Given the description of an element on the screen output the (x, y) to click on. 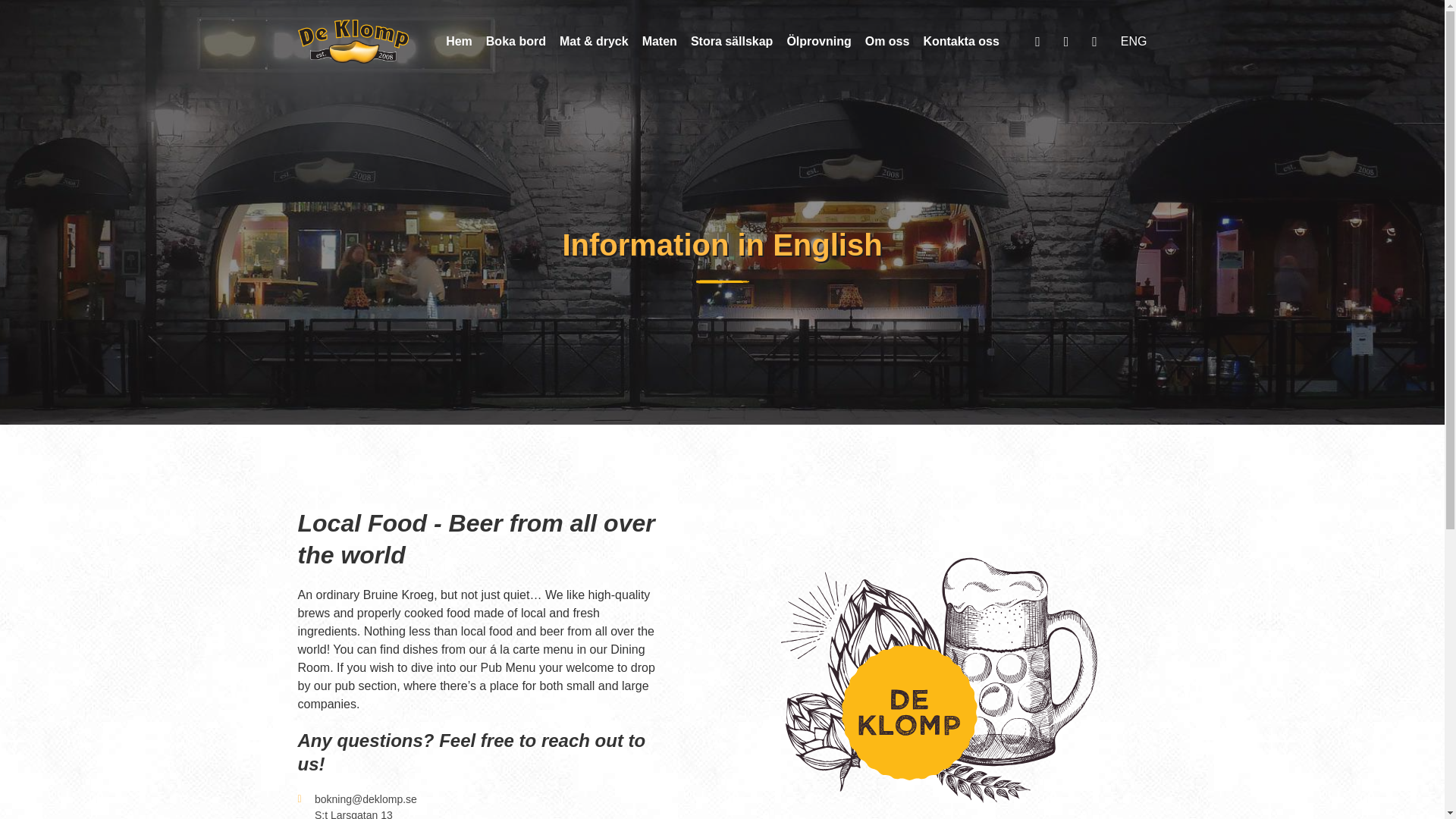
Kontakta oss (960, 41)
Boka bord (516, 41)
Maten (659, 41)
Om oss (887, 41)
ENG (1134, 41)
